Given the description of an element on the screen output the (x, y) to click on. 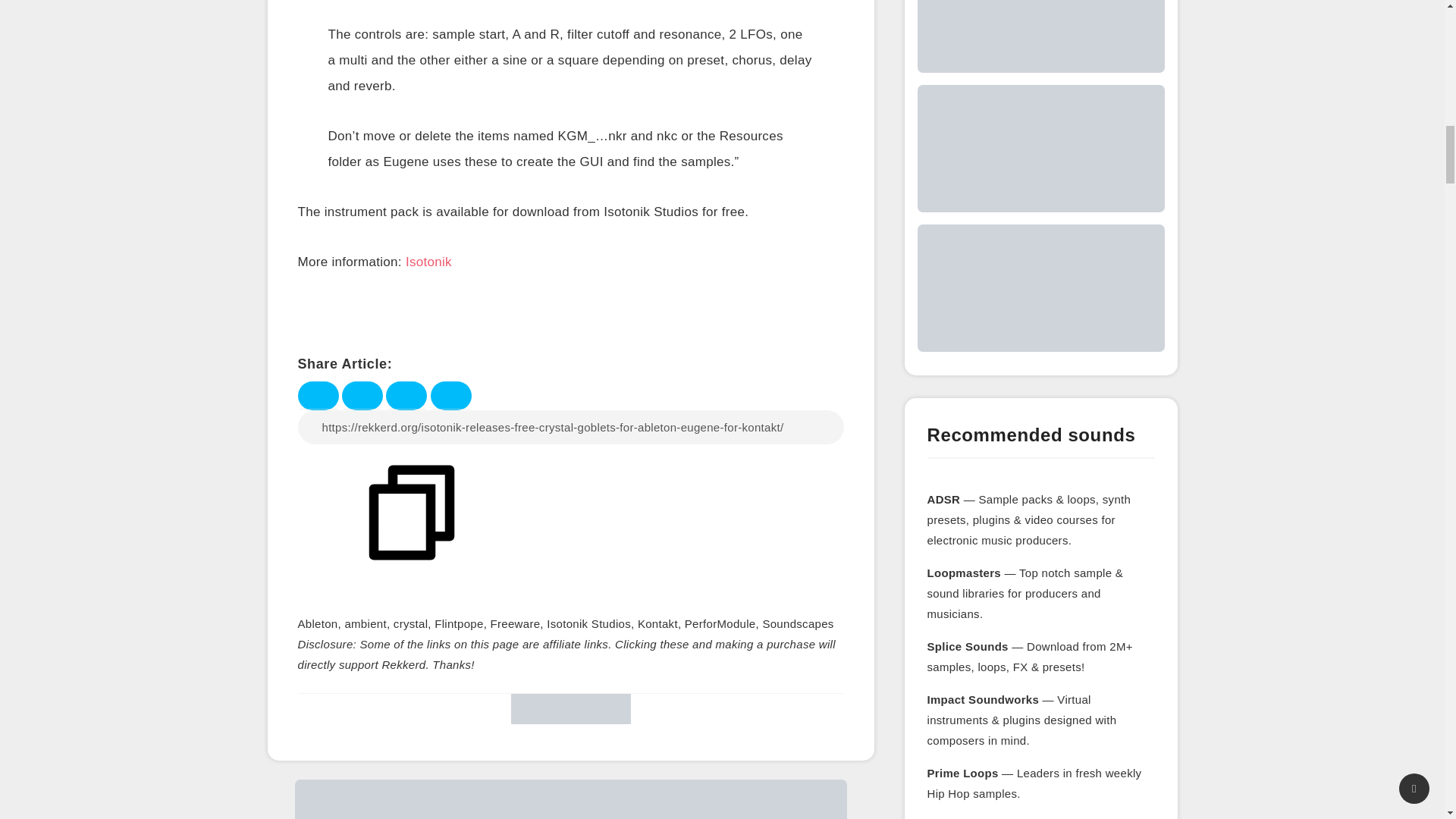
Isotonik Studios (588, 623)
Isotonik (428, 263)
Ableton (317, 623)
Kontakt (657, 623)
ambient (364, 623)
PerforModule (719, 623)
Freeware (515, 623)
Flintpope (458, 623)
crystal (410, 623)
Soundscapes (796, 623)
